Given the description of an element on the screen output the (x, y) to click on. 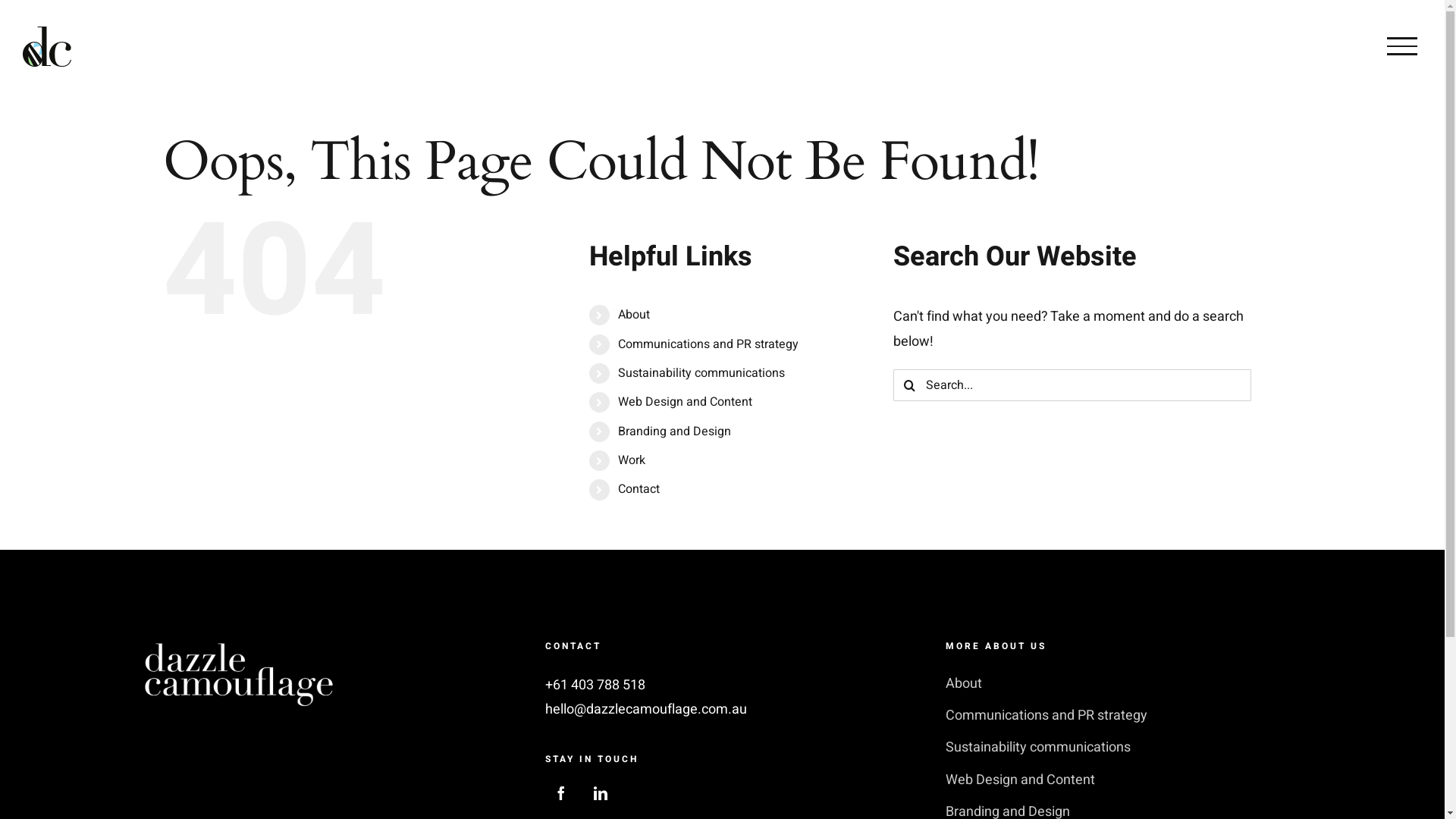
Sustainability communications Element type: text (1122, 747)
Communications and PR strategy Element type: text (708, 344)
LinkedIn Element type: hover (600, 793)
Web Design and Content Element type: text (1122, 780)
About Element type: text (633, 314)
Web Design and Content Element type: text (685, 401)
Work Element type: text (631, 460)
+61 403 788 518 Element type: text (595, 684)
Communications and PR strategy Element type: text (1122, 715)
Facebook Element type: hover (561, 793)
About Element type: text (1122, 683)
hello@dazzlecamouflage.com.au Element type: text (645, 709)
Contact Element type: text (638, 489)
Branding and Design Element type: text (674, 431)
Sustainability communications Element type: text (701, 373)
